Given the description of an element on the screen output the (x, y) to click on. 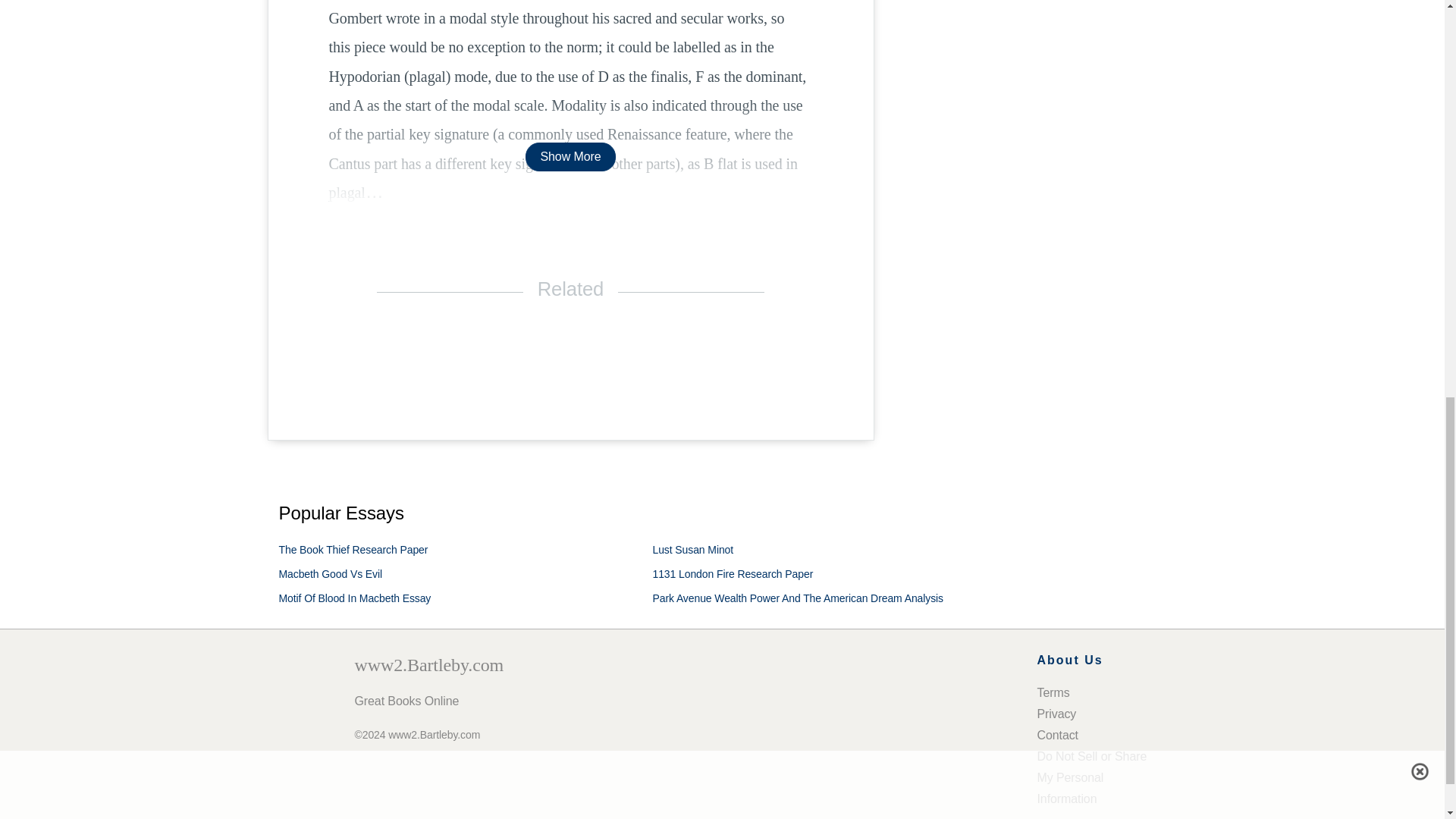
Park Avenue Wealth Power And The American Dream Analysis (797, 598)
The Book Thief Research Paper (353, 549)
Motif Of Blood In Macbeth Essay (354, 598)
1131 London Fire Research Paper (732, 573)
The Book Thief Research Paper (353, 549)
Macbeth Good Vs Evil (330, 573)
Contact (1057, 735)
Park Avenue Wealth Power And The American Dream Analysis (797, 598)
Motif Of Blood In Macbeth Essay (354, 598)
Terms (1053, 692)
Privacy (1056, 713)
Lust Susan Minot (692, 549)
1131 London Fire Research Paper (732, 573)
Lust Susan Minot (692, 549)
